Given the description of an element on the screen output the (x, y) to click on. 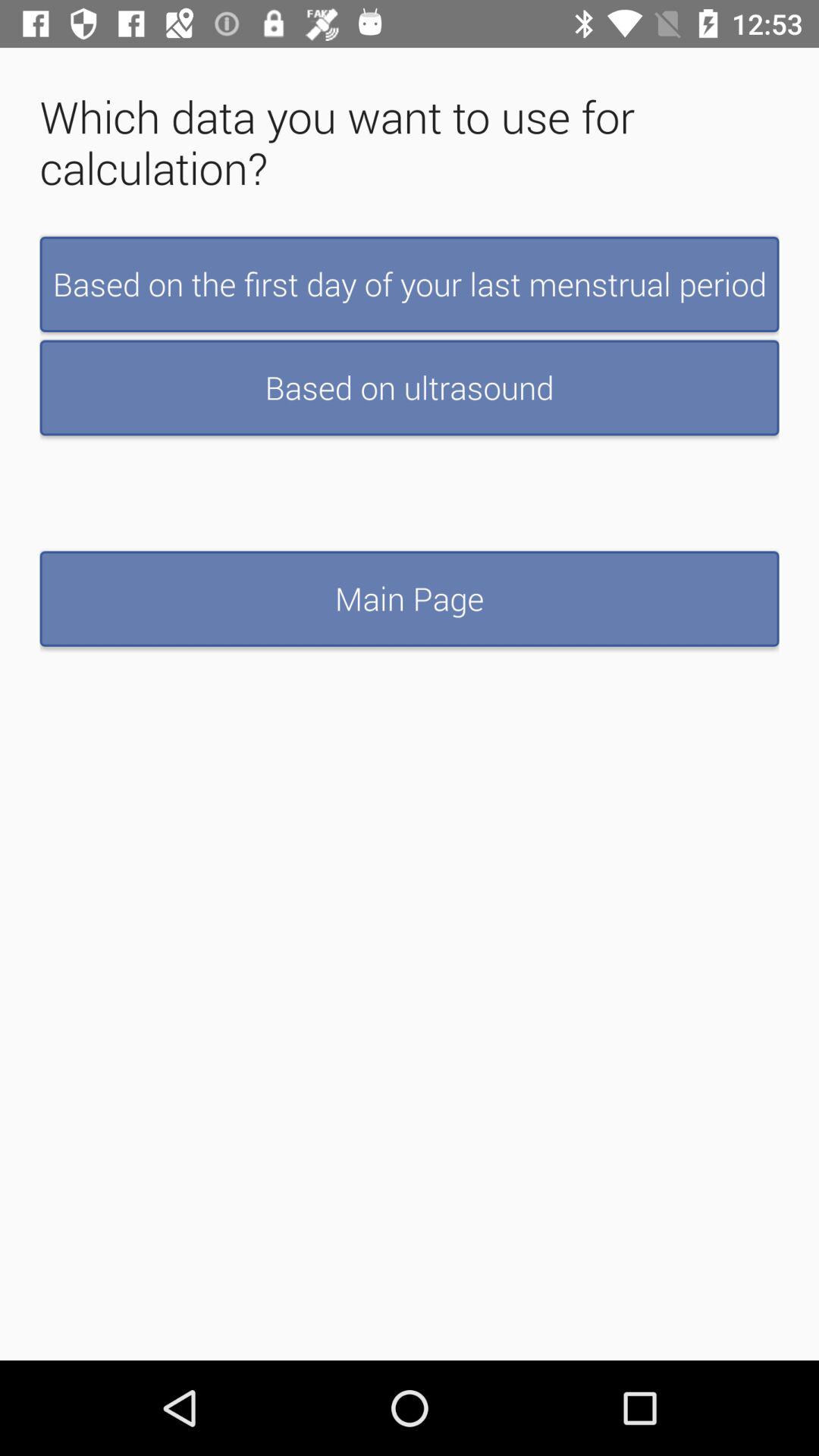
turn off the button below the based on ultrasound icon (409, 598)
